Given the description of an element on the screen output the (x, y) to click on. 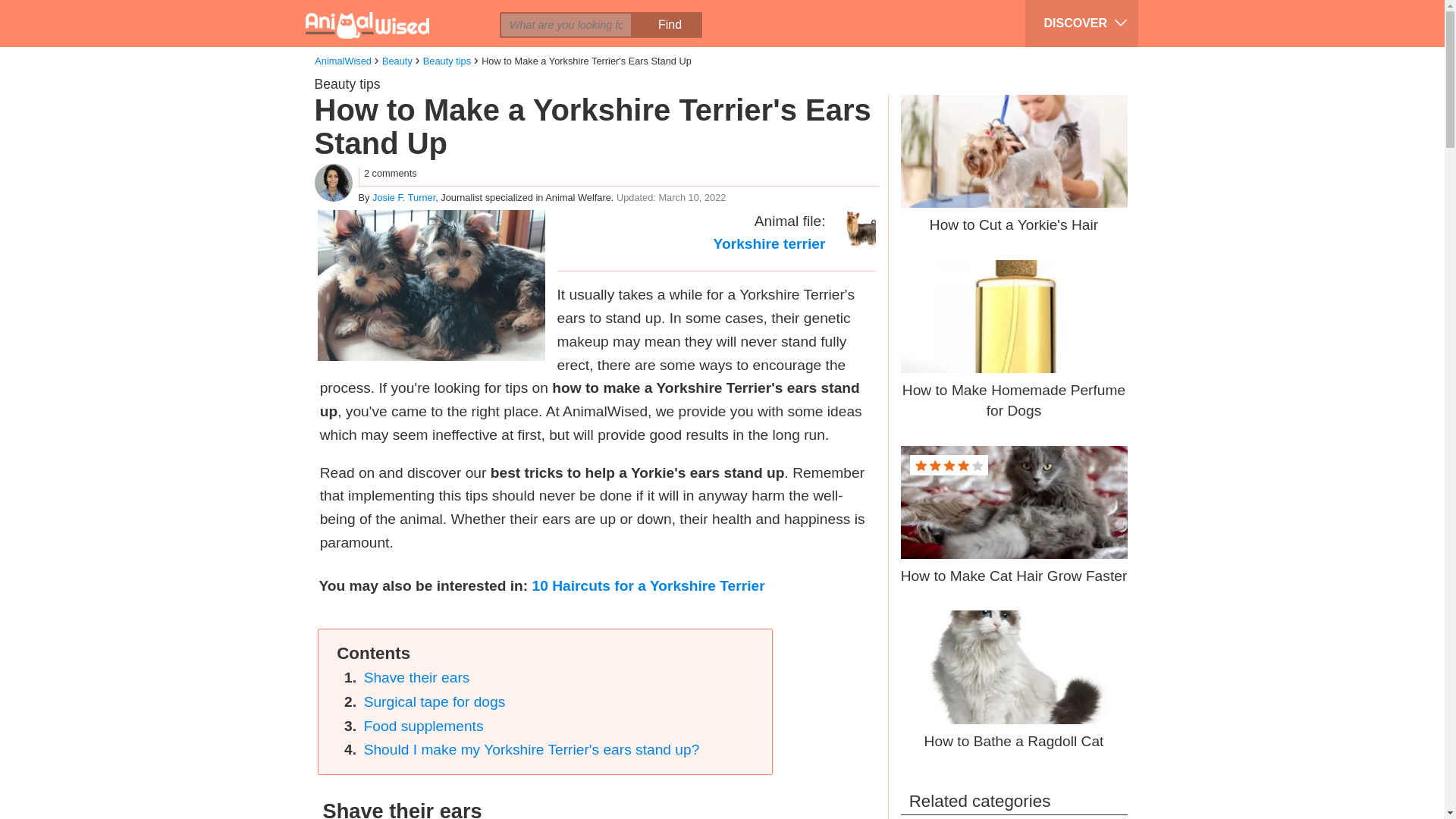
pinterest (427, 12)
AnimalWised (342, 60)
whatsapp (456, 12)
2 comments (390, 173)
Should I make my Yorkshire Terrier's ears stand up? (532, 749)
Beauty tips (347, 83)
descargar (514, 12)
Beauty tips (446, 60)
10 Haircuts for a Yorkshire Terrier (648, 585)
imprimir (485, 12)
Food supplements (423, 725)
Find (668, 24)
Beauty (396, 60)
Shave their ears (417, 677)
facebook (370, 12)
